Given the description of an element on the screen output the (x, y) to click on. 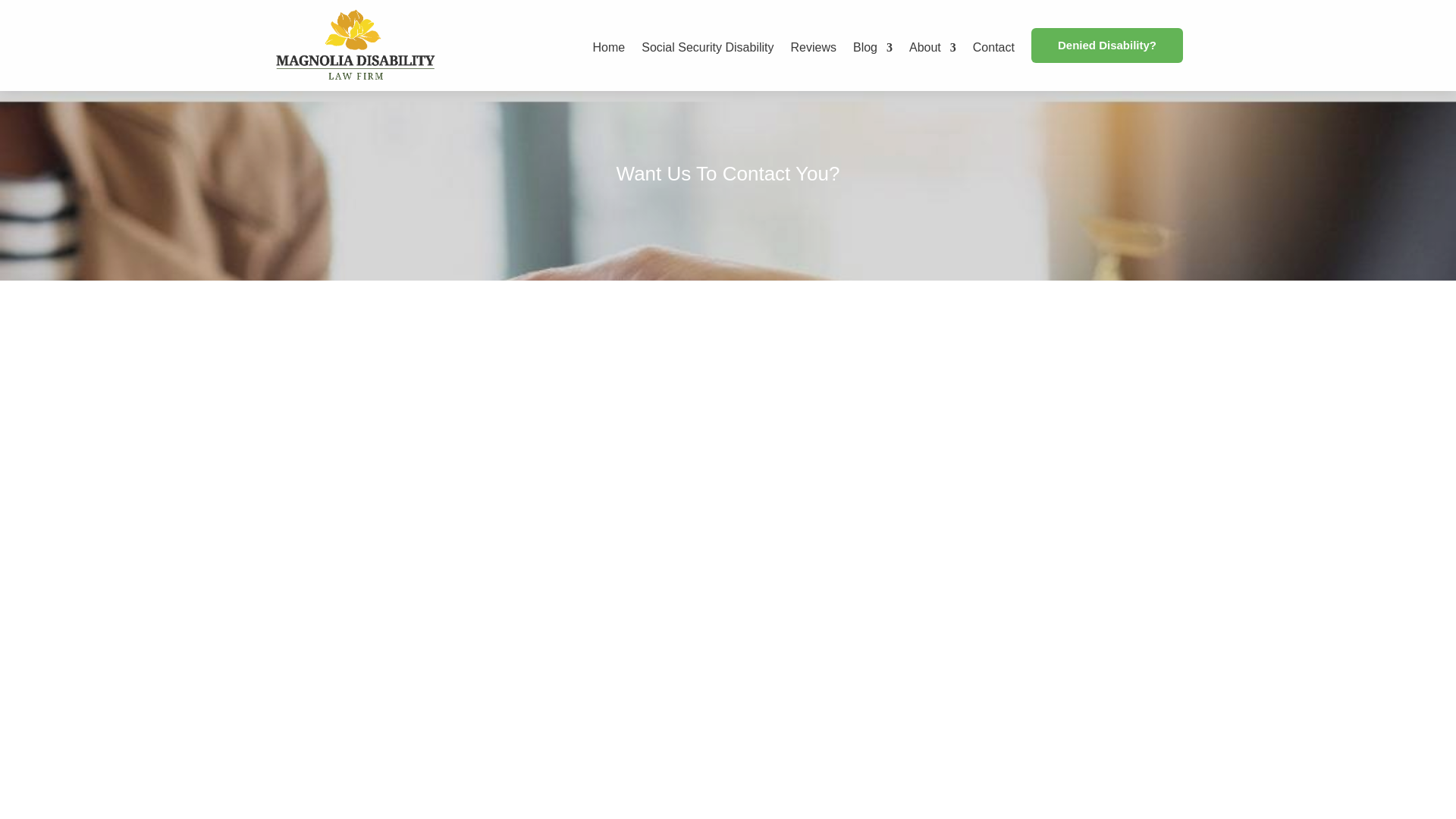
Home (609, 59)
Denied Disability? (1106, 45)
About (932, 59)
Social Security Disability (707, 59)
MagnoliaNewLogo2 (355, 45)
Blog (872, 59)
Contact (993, 59)
Reviews (812, 59)
